Given the description of an element on the screen output the (x, y) to click on. 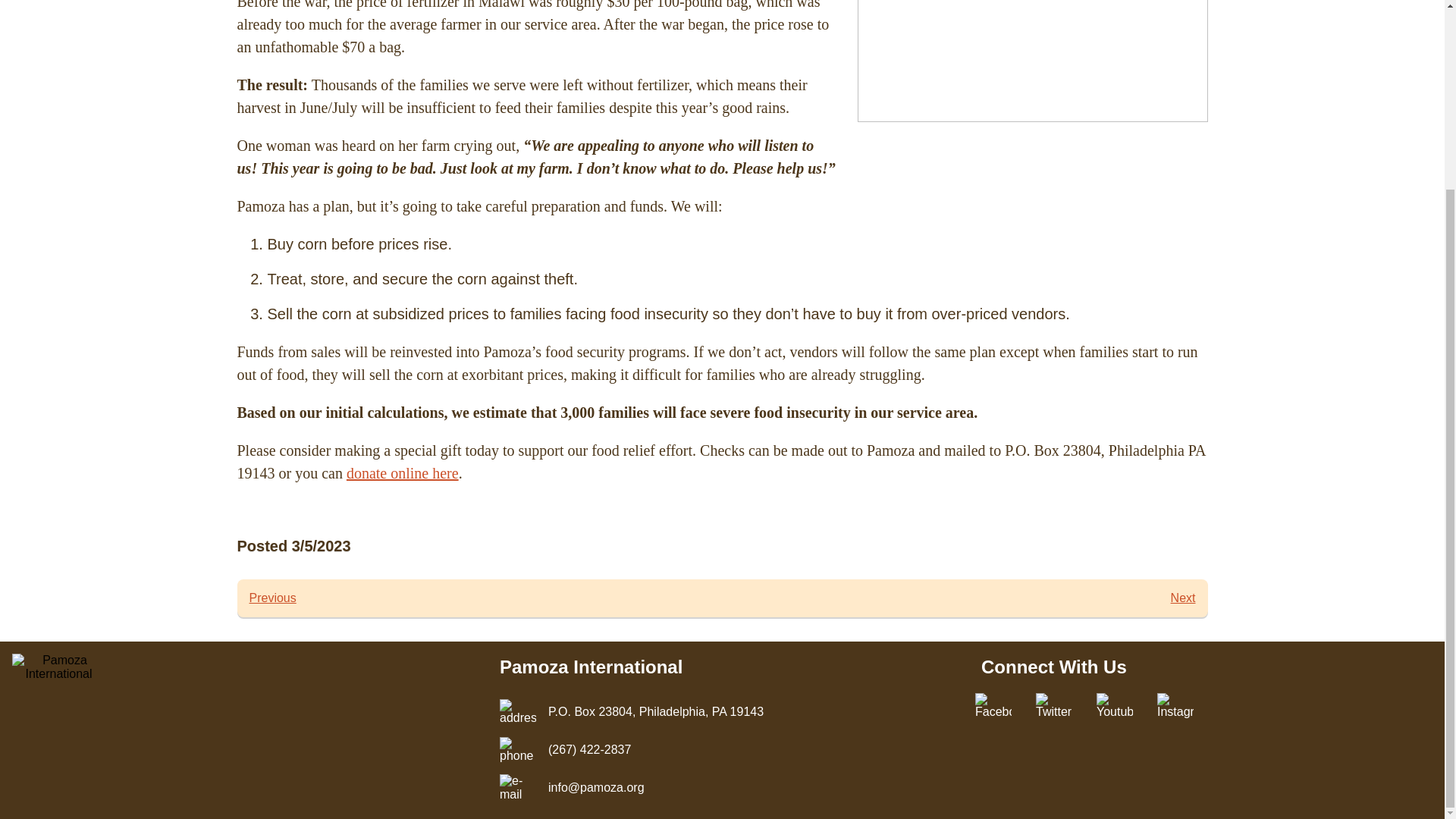
donate online here (271, 598)
